Given the description of an element on the screen output the (x, y) to click on. 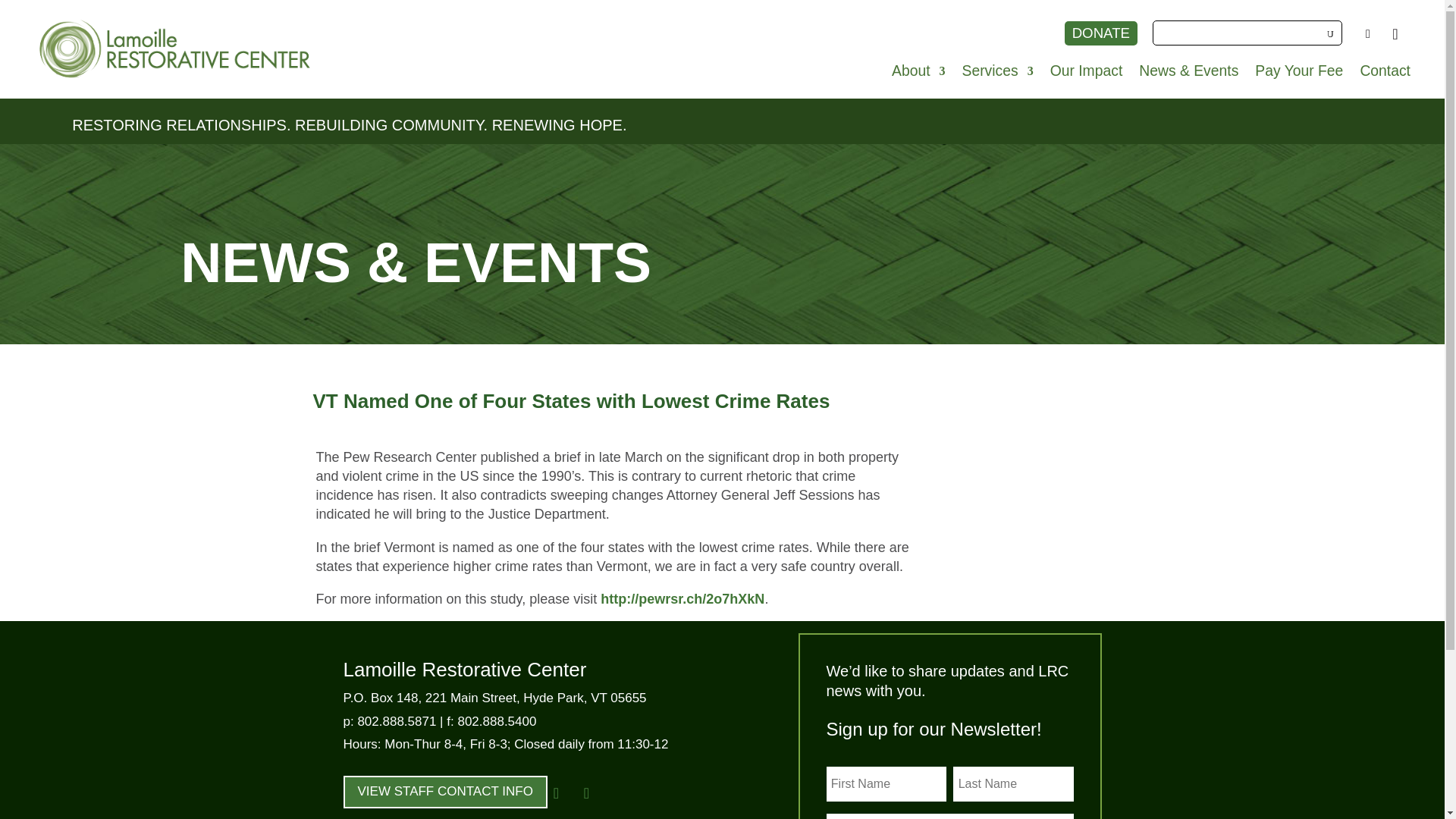
Our Impact (1085, 74)
Follow on Facebook (556, 793)
Search (24, 15)
Follow on Instagram (1395, 33)
Pay Your Fee (1298, 74)
Follow on Facebook (1367, 33)
DONATE (1100, 33)
About (917, 74)
Follow on Instagram (587, 793)
Services (997, 74)
Contact (1384, 74)
